Given the description of an element on the screen output the (x, y) to click on. 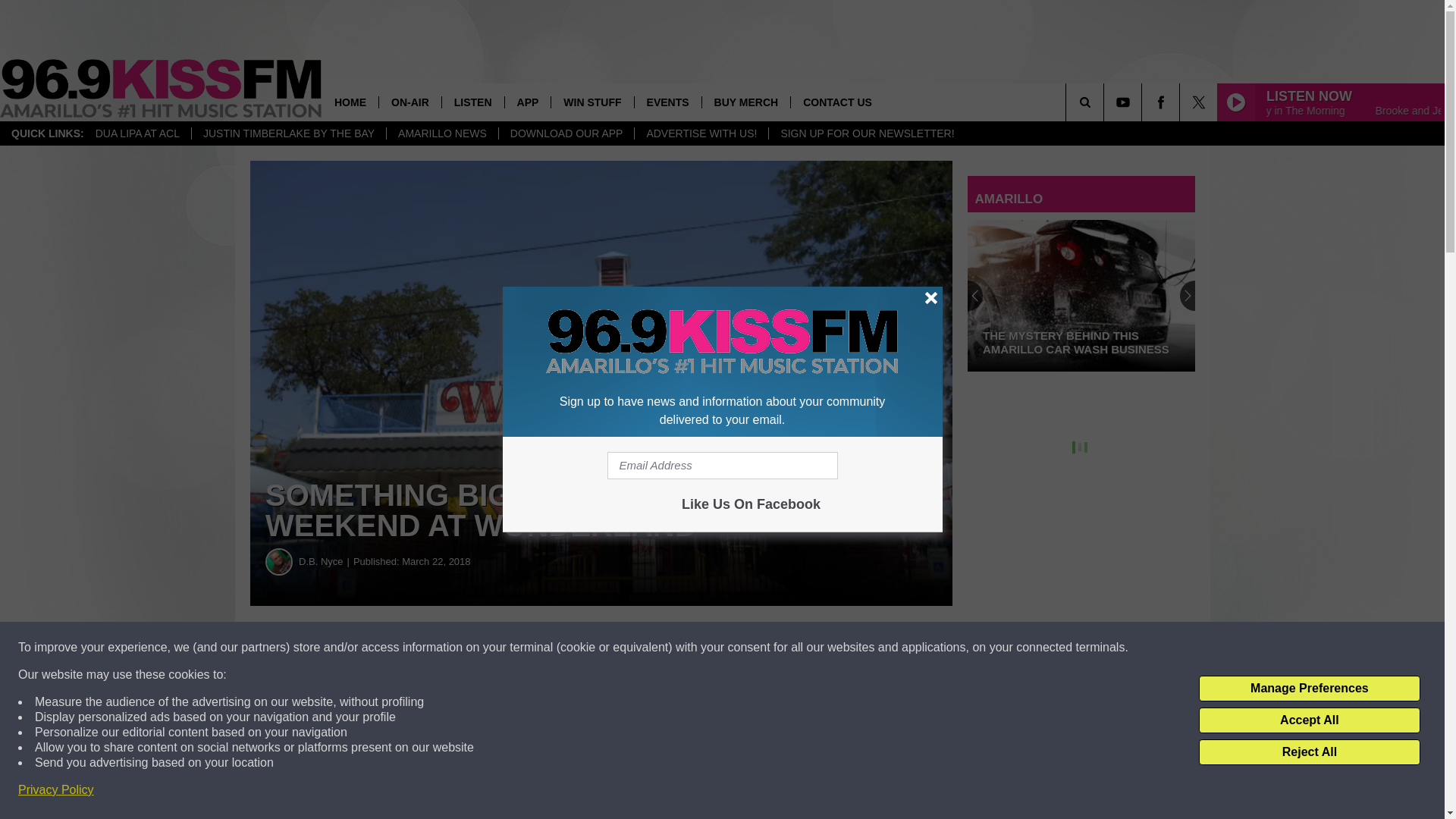
HOME (349, 102)
SEARCH (1106, 102)
DOWNLOAD OUR APP (565, 133)
WIN STUFF (591, 102)
LISTEN (472, 102)
APP (527, 102)
DUA LIPA AT ACL (137, 133)
ON-AIR (409, 102)
Share on Facebook (460, 647)
EVENTS (667, 102)
Reject All (1309, 751)
AMARILLO NEWS (441, 133)
Email Address (722, 465)
JUSTIN TIMBERLAKE BY THE BAY (287, 133)
Privacy Policy (55, 789)
